Given the description of an element on the screen output the (x, y) to click on. 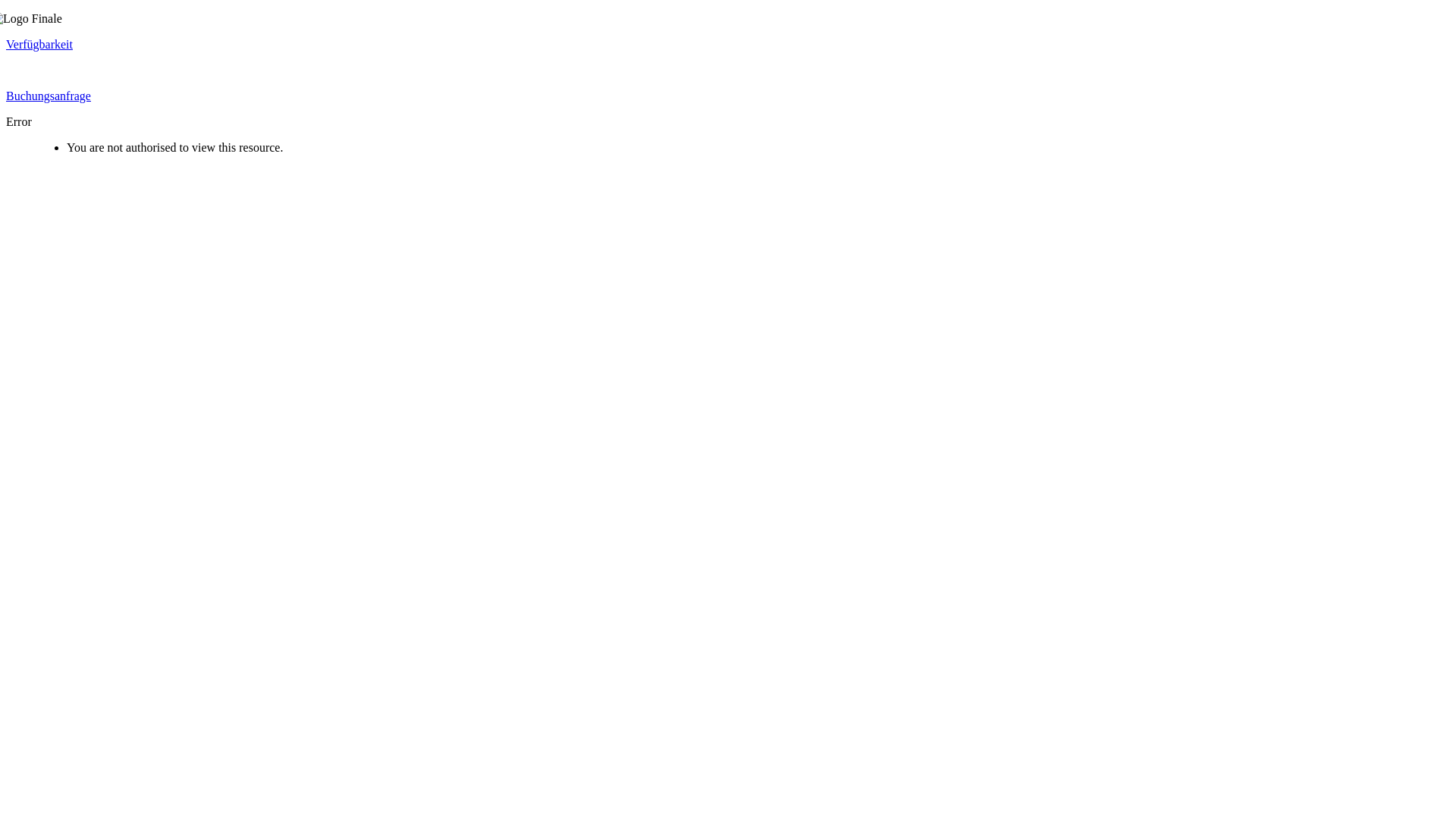
Buchungsanfrage Element type: text (48, 95)
